Given the description of an element on the screen output the (x, y) to click on. 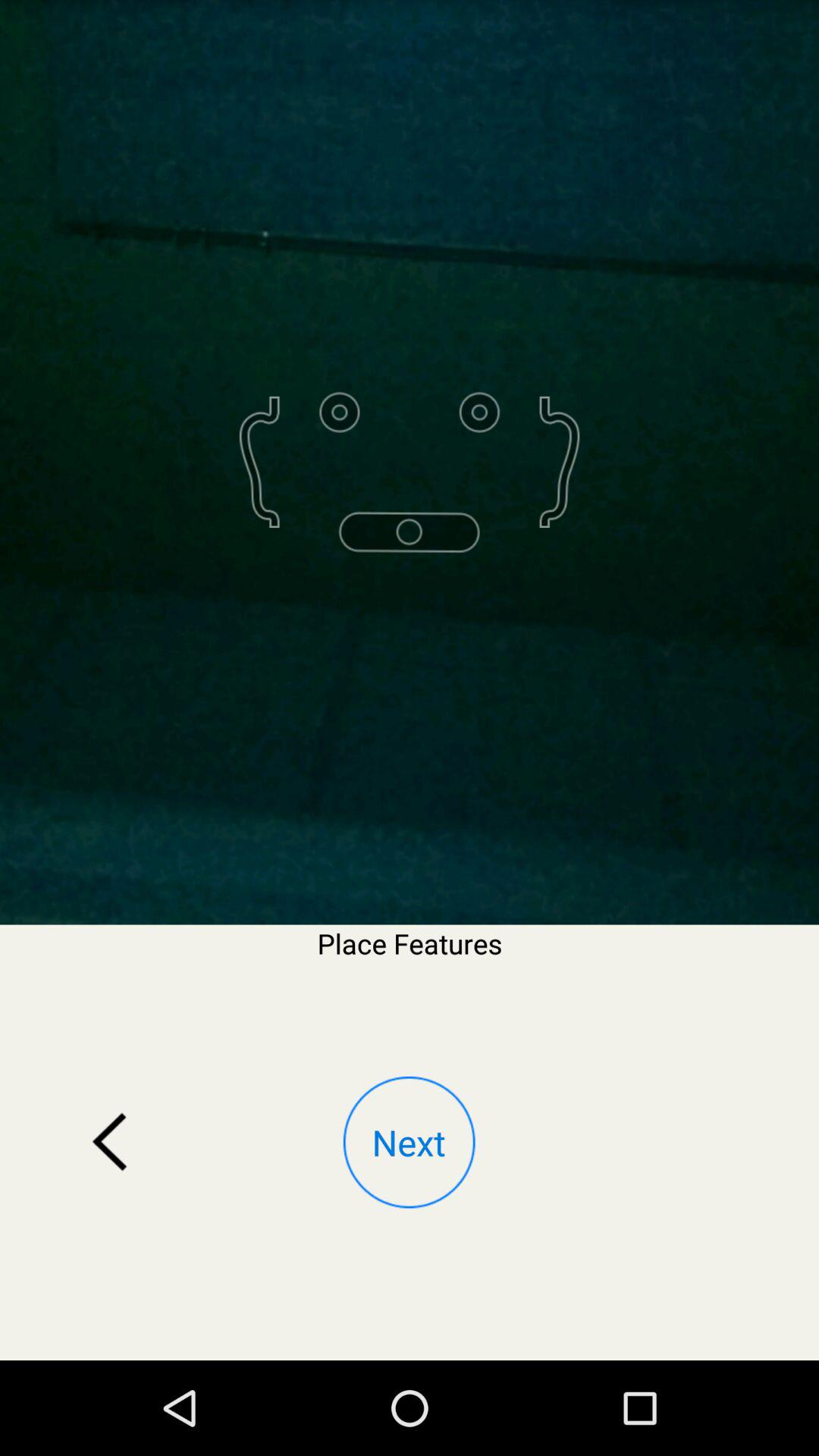
open the app below the place features item (109, 1142)
